Given the description of an element on the screen output the (x, y) to click on. 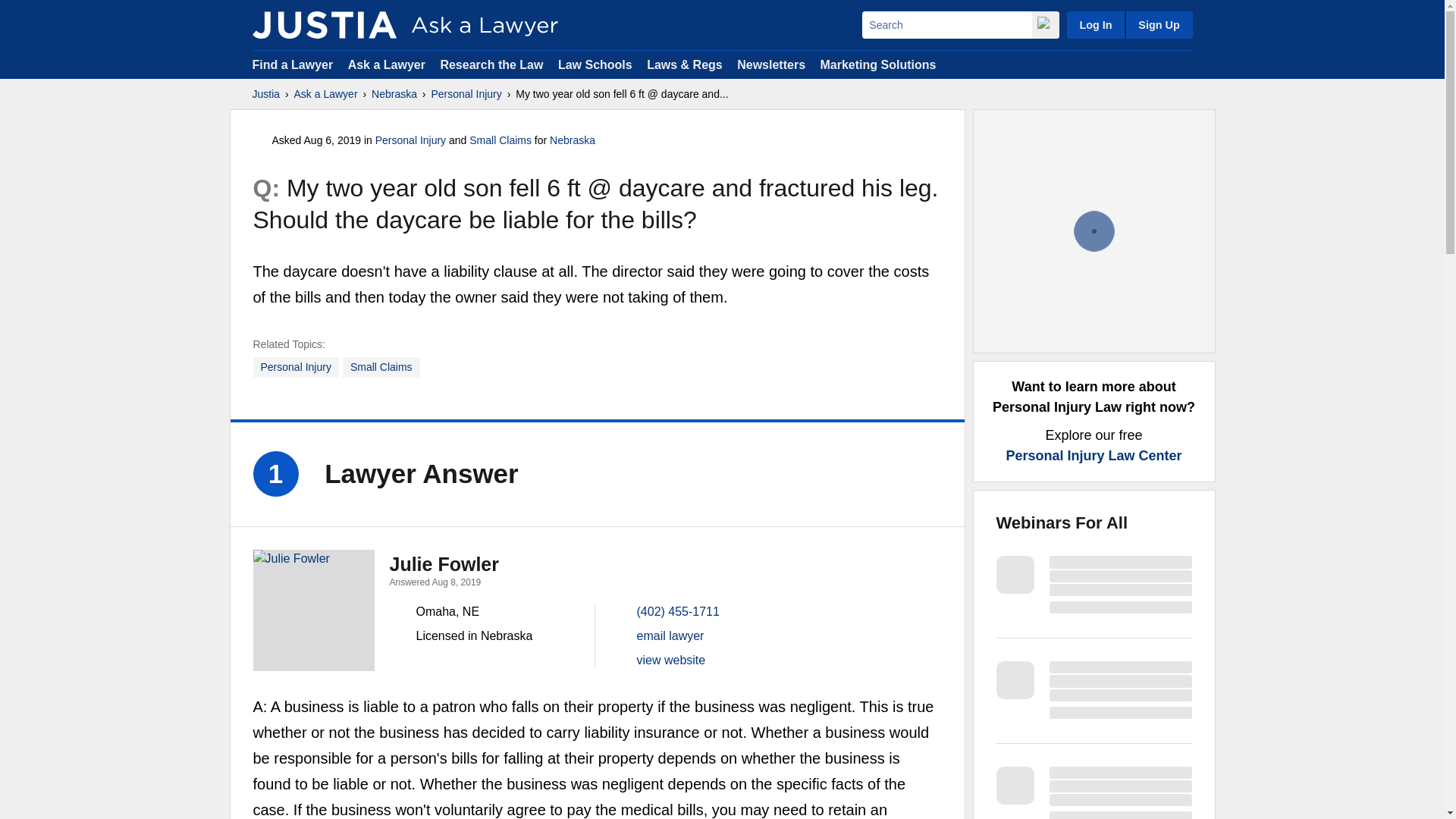
Law Schools (594, 64)
Nebraska (572, 140)
Justia (265, 93)
Julie Fowler (313, 609)
Personal Injury (465, 93)
Search (945, 24)
Julie Fowler (444, 563)
Sign Up (1158, 24)
Research the Law (491, 64)
Ask a Lawyer (326, 93)
